Given the description of an element on the screen output the (x, y) to click on. 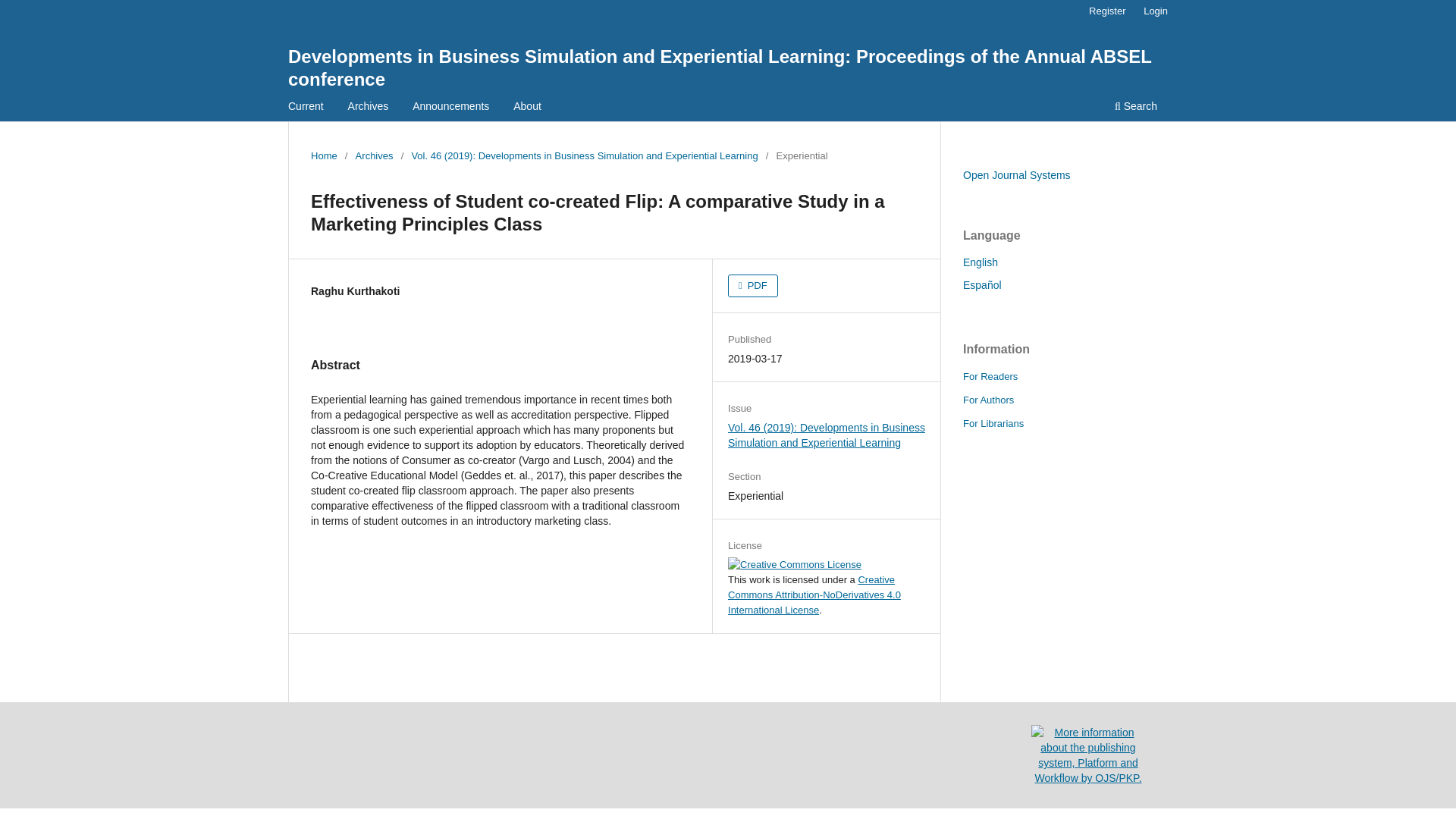
About (527, 108)
Open Journal Systems (1016, 174)
Search (1135, 108)
For Librarians (992, 423)
Archives (368, 108)
Current (305, 108)
Announcements (451, 108)
Register (1106, 11)
English (979, 262)
